Given the description of an element on the screen output the (x, y) to click on. 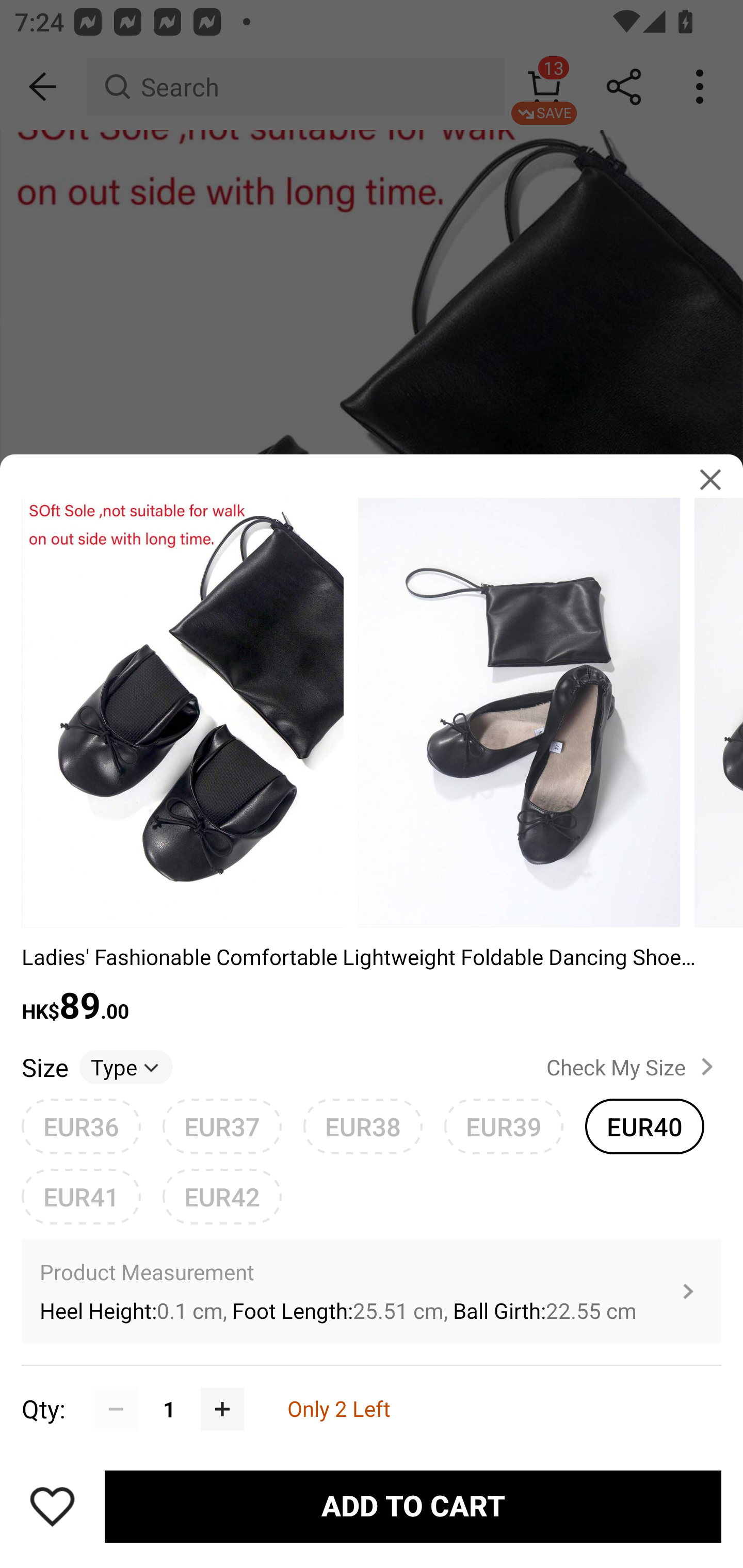
Size (44, 1066)
Type (126, 1066)
Check My Size (633, 1066)
EUR36 EUR38 (81, 1126)
EUR37 EUR39 (221, 1126)
EUR38 EUR40 (362, 1126)
EUR39 EUR41 (503, 1126)
EUR40 EUR42selected option (644, 1126)
EUR41 (81, 1196)
EUR42 (221, 1196)
ADD TO CART (412, 1506)
Save (52, 1505)
